Given the description of an element on the screen output the (x, y) to click on. 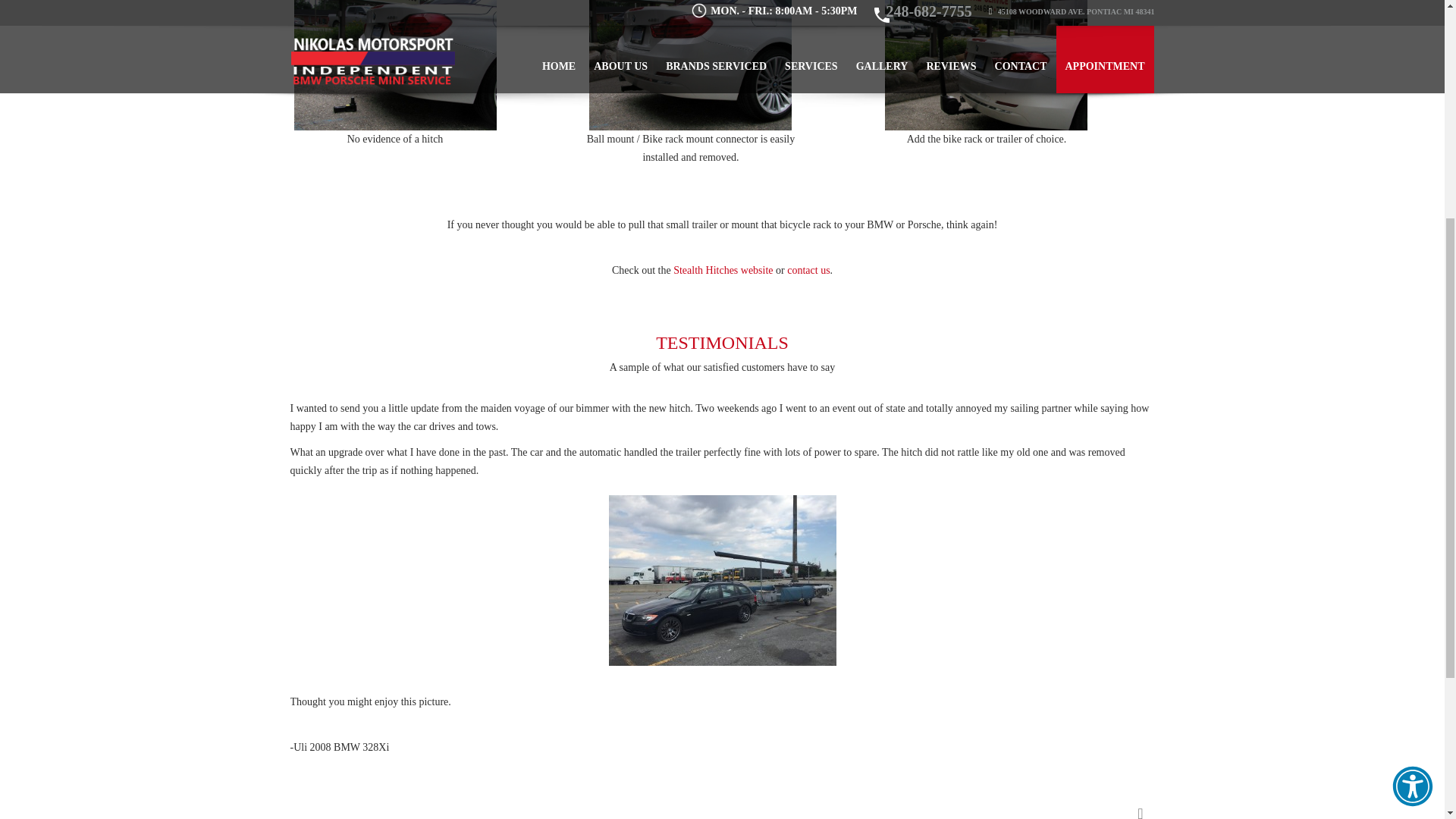
Stealth Hitches website (722, 270)
contact us (808, 270)
Contact (808, 270)
